Given the description of an element on the screen output the (x, y) to click on. 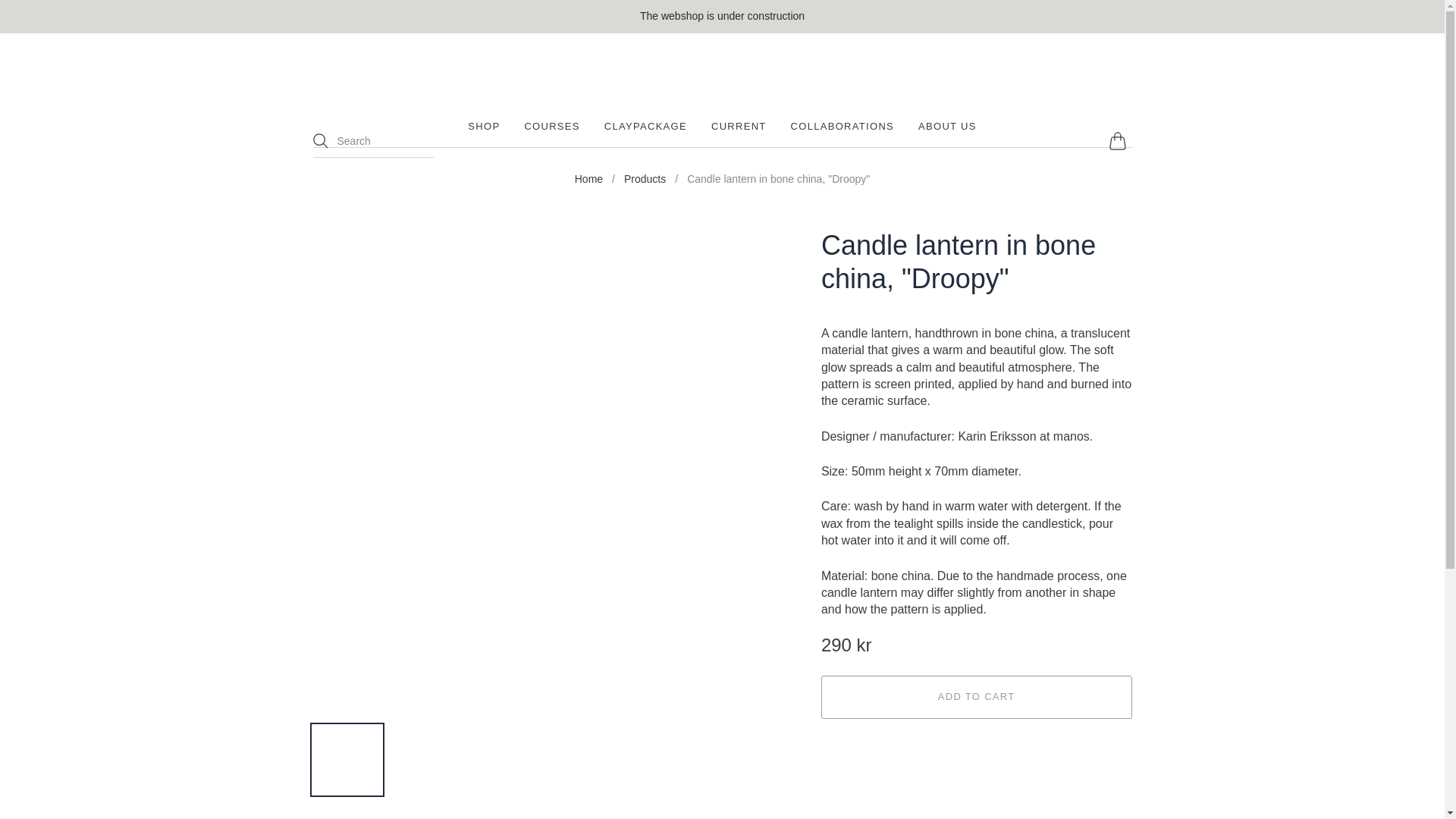
Home (588, 179)
ABOUT US (947, 126)
Products (644, 179)
ADD TO CART (976, 696)
CLAYPACKAGE (645, 126)
COURSES (551, 126)
COLLABORATIONS (841, 126)
SHOP (483, 126)
CURRENT (739, 126)
Cart (1119, 141)
